Given the description of an element on the screen output the (x, y) to click on. 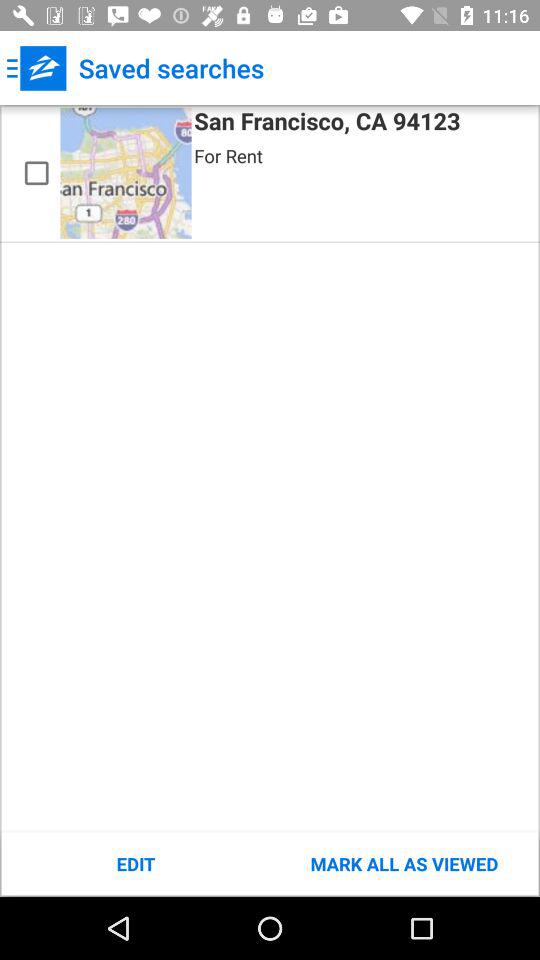
launch item below the san francisco ca (404, 863)
